Given the description of an element on the screen output the (x, y) to click on. 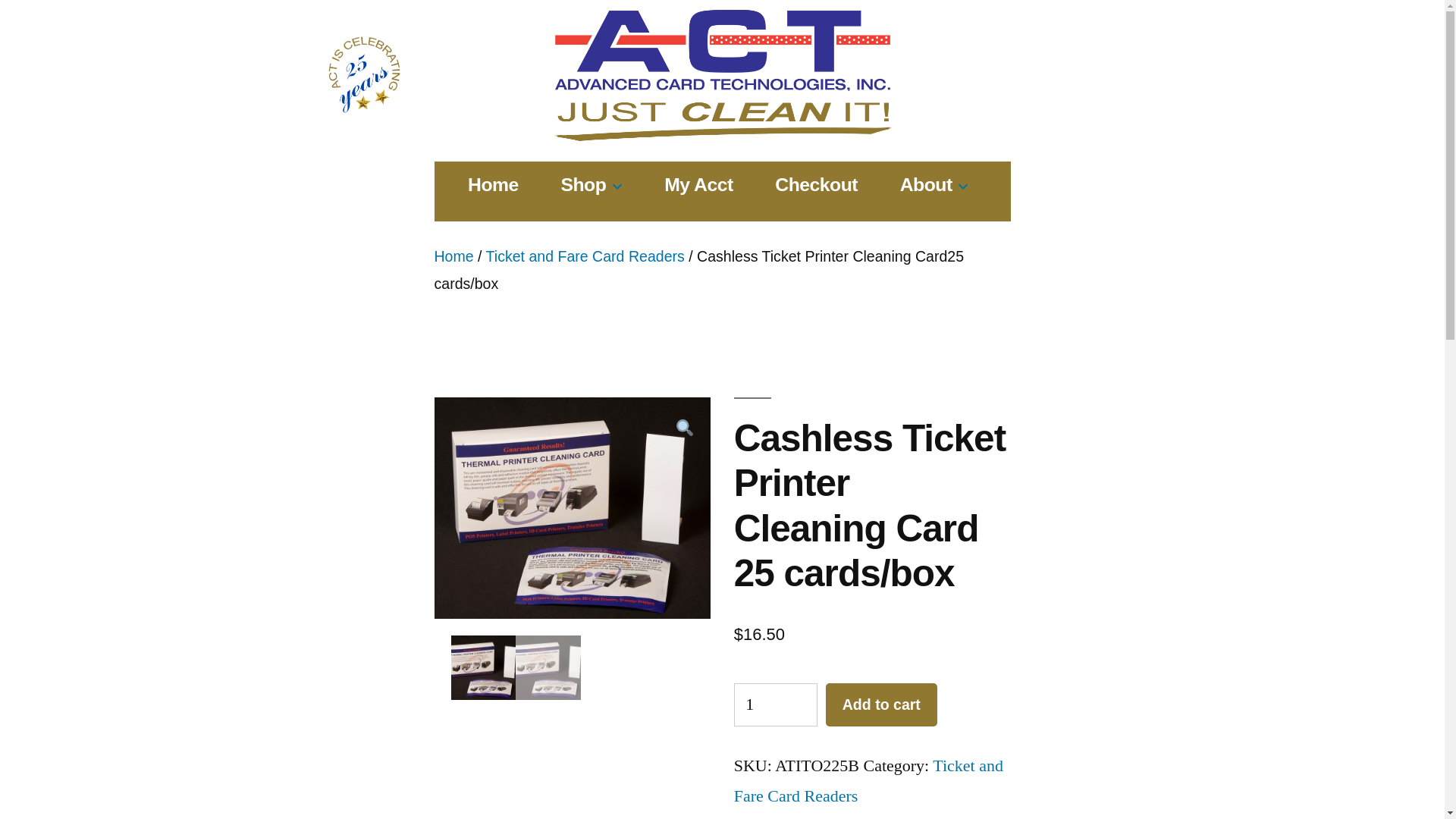
Checkout (815, 184)
Shop (582, 184)
About (925, 184)
1 (774, 704)
TPPS (571, 508)
My Acct (698, 184)
Ticket and Fare Card Readers (868, 780)
Home (453, 256)
Add to cart (881, 704)
Home (492, 184)
Ticket and Fare Card Readers (585, 256)
